Given the description of an element on the screen output the (x, y) to click on. 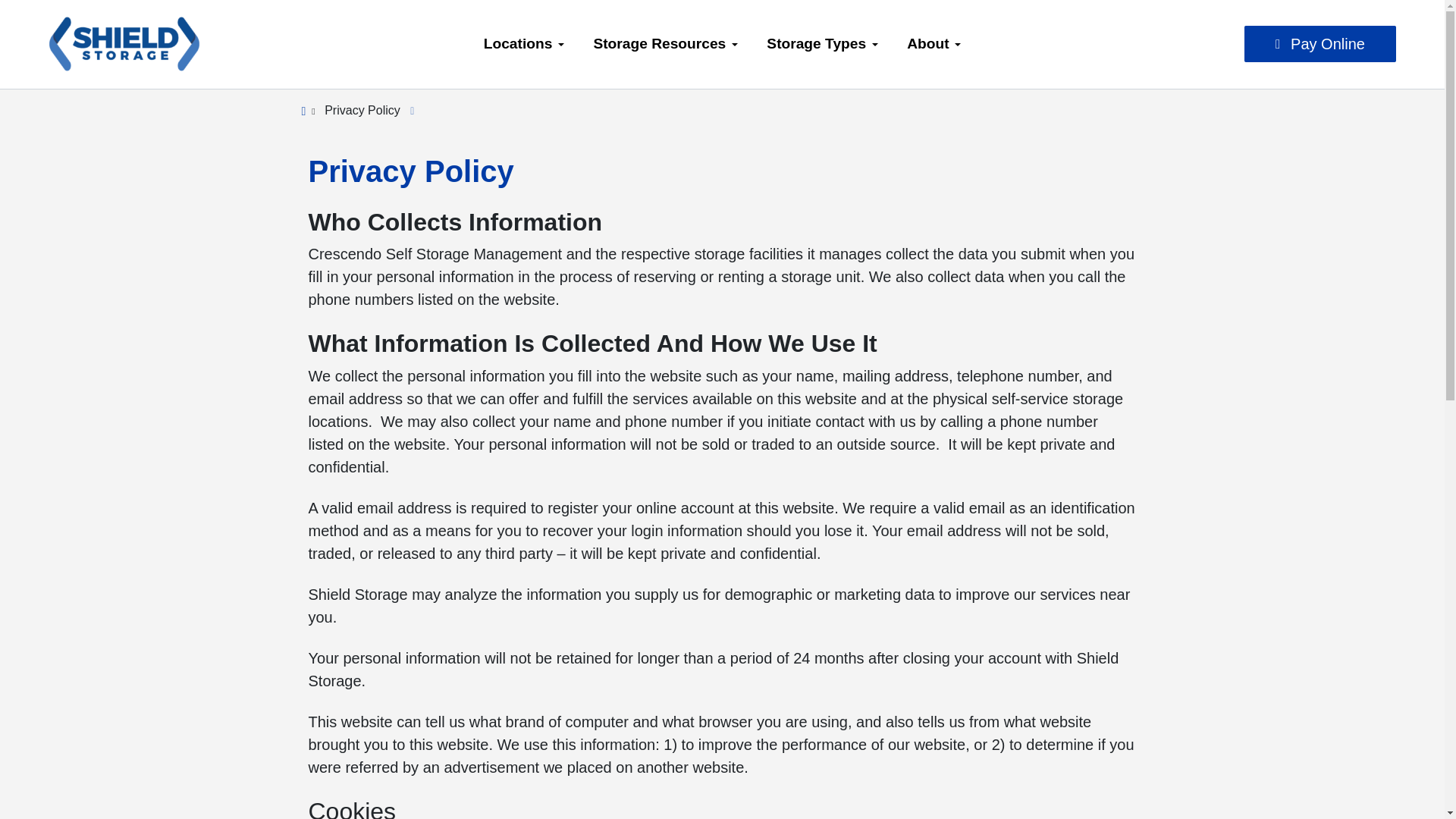
Copy this url to clipboard (405, 109)
Storage Types (822, 44)
Locations (523, 44)
Storage Resources (665, 44)
Locations (523, 44)
Pay Online (1320, 43)
Storage Types (822, 44)
About (933, 44)
Storage Resources (665, 44)
